Given the description of an element on the screen output the (x, y) to click on. 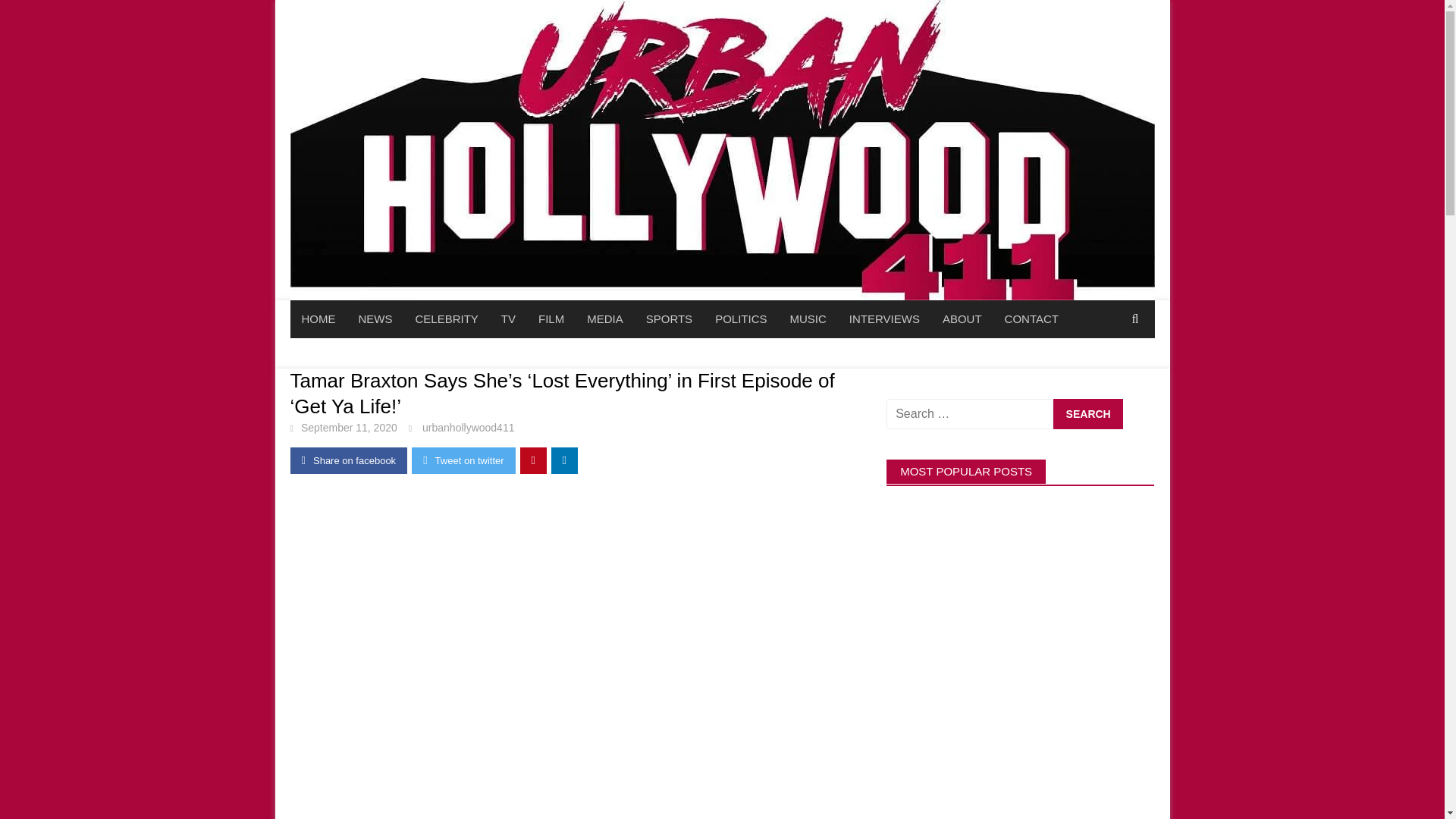
Tweet on twitter (463, 460)
MUSIC (807, 319)
Search (1087, 413)
FILM (551, 319)
urbanhollywood411 (467, 427)
September 11, 2020 (349, 427)
HOME (317, 319)
INTERVIEWS (884, 319)
CONTACT (1031, 319)
Share on facebook (348, 460)
POLITICS (740, 319)
MEDIA (604, 319)
NEWS (375, 319)
ABOUT (961, 319)
CELEBRITY (446, 319)
